Given the description of an element on the screen output the (x, y) to click on. 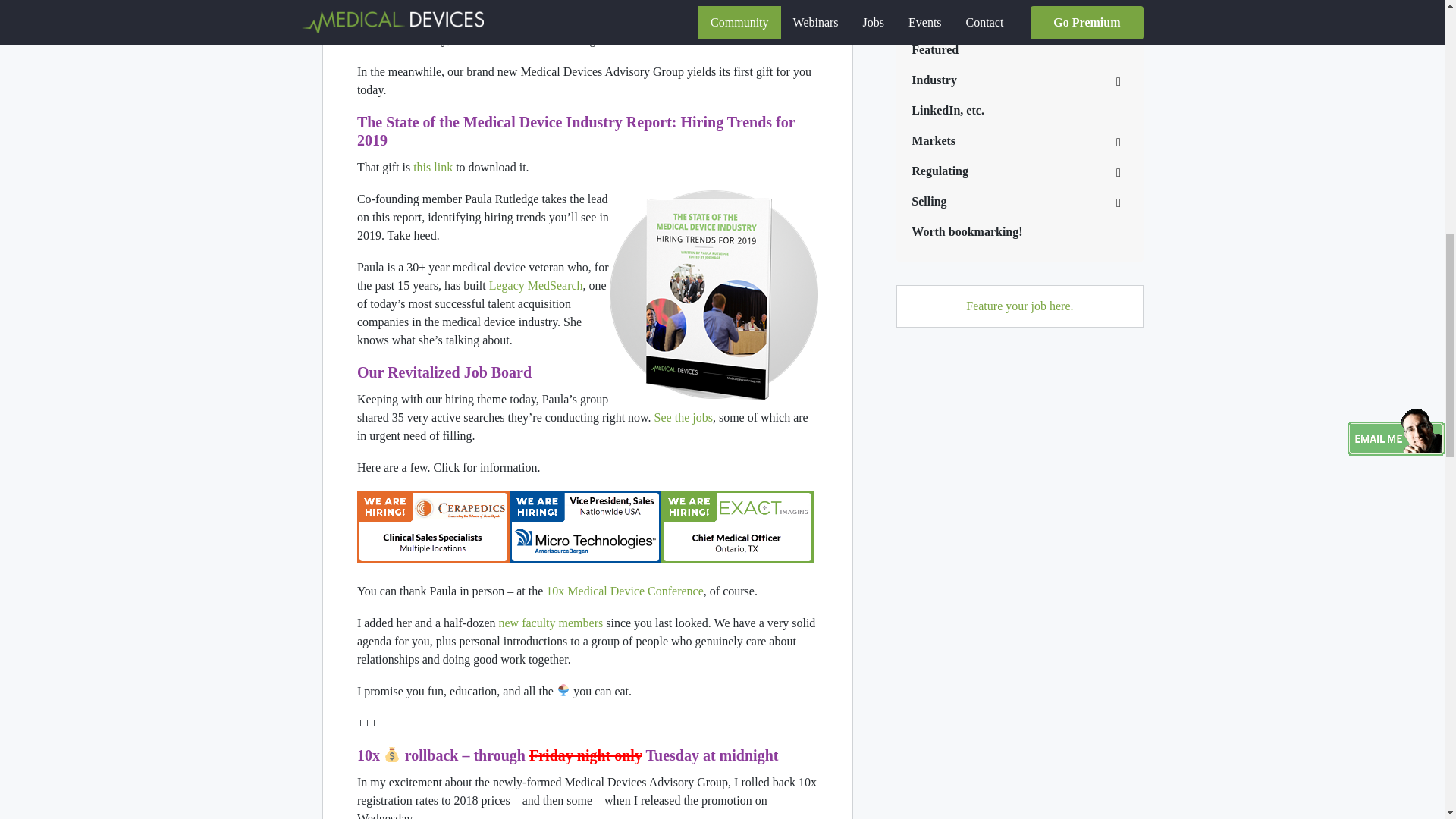
10x Medical Device Conference (624, 590)
new faculty members (549, 622)
Legacy MedSearch (536, 285)
this link (432, 166)
See the jobs (683, 417)
